Given the description of an element on the screen output the (x, y) to click on. 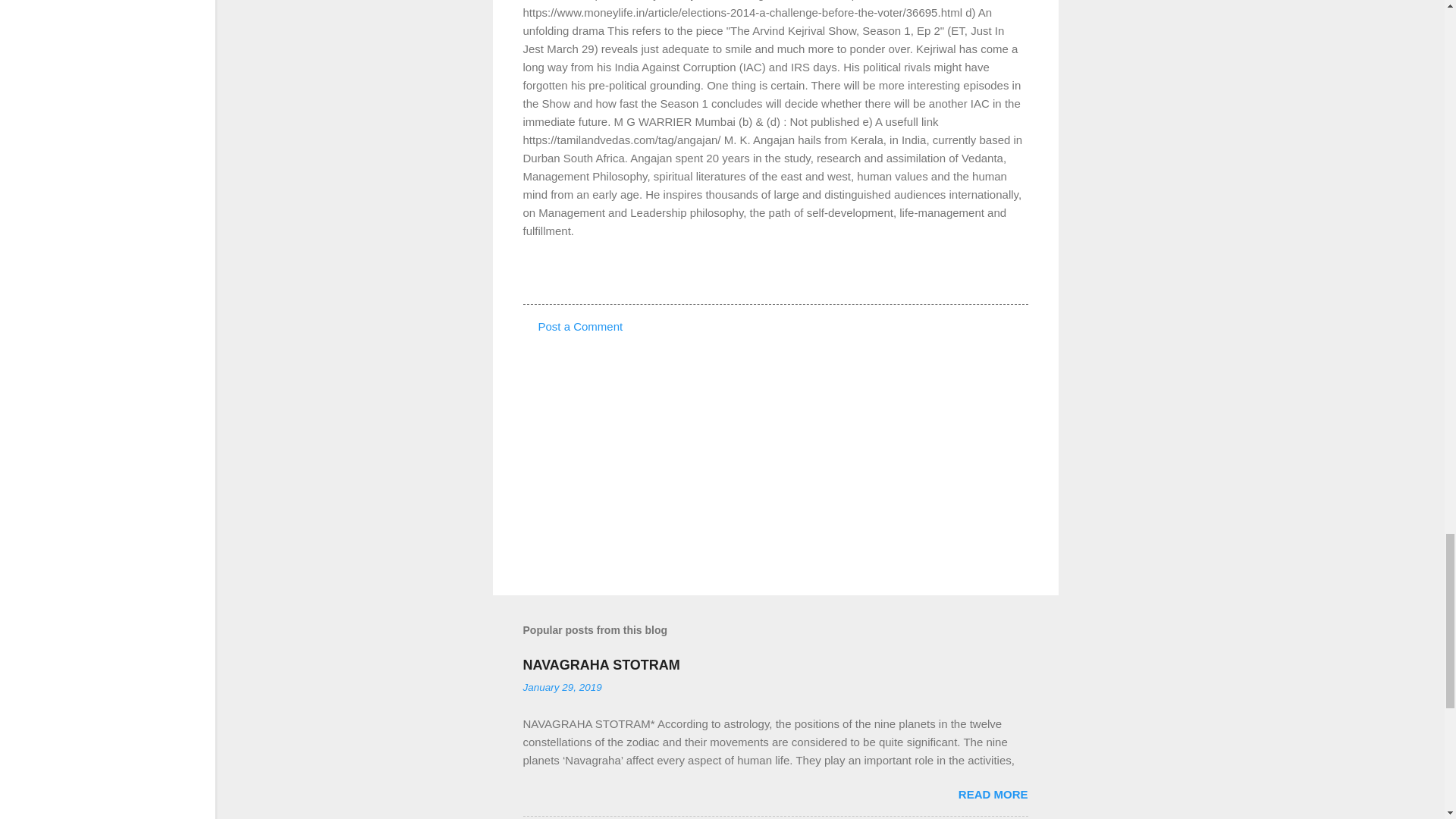
Post a Comment (580, 326)
January 29, 2019 (562, 686)
READ MORE (992, 793)
NAVAGRAHA STOTRAM (600, 664)
permanent link (562, 686)
